Given the description of an element on the screen output the (x, y) to click on. 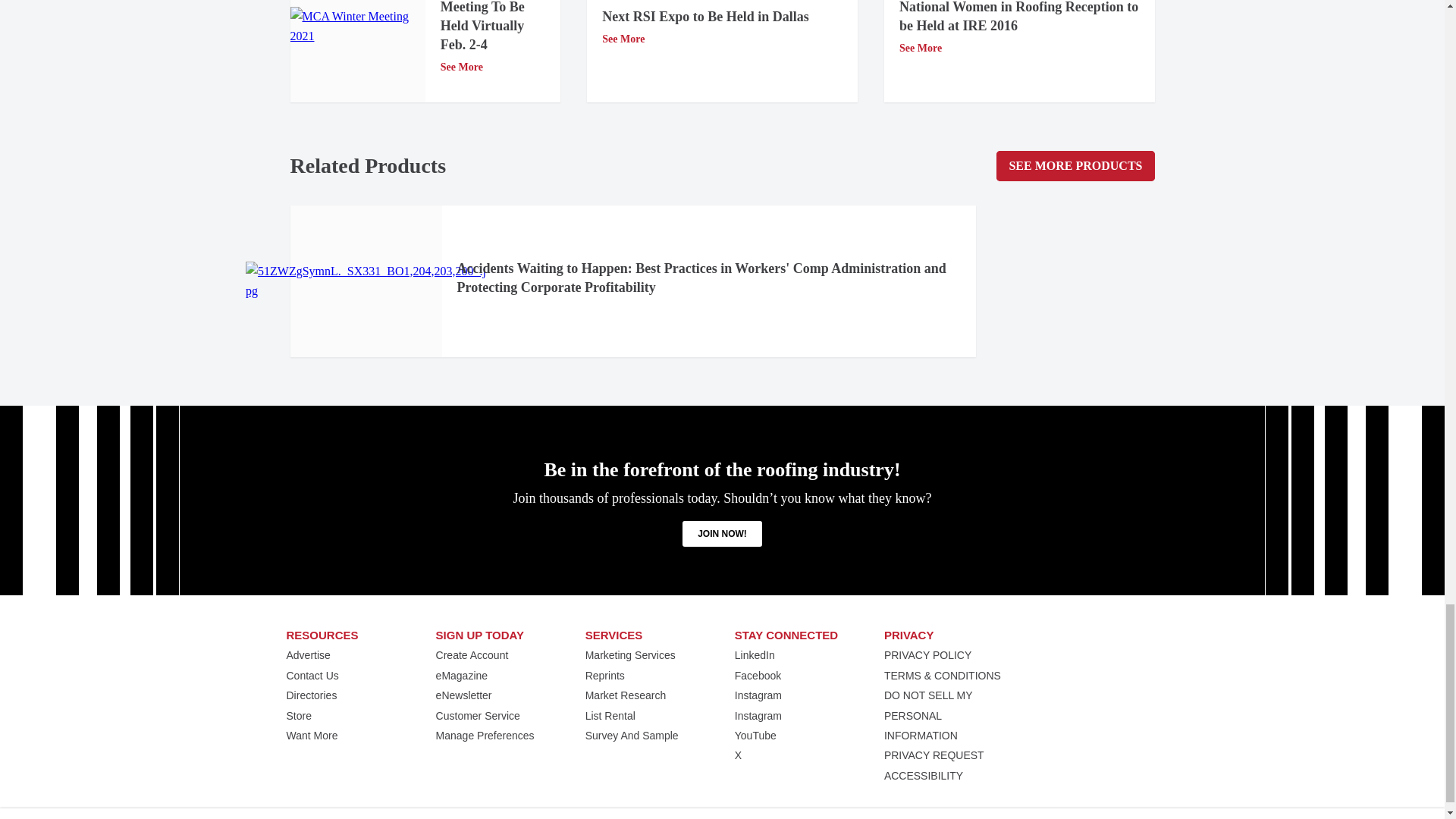
MCA Winter Meeting 2021 (357, 26)
